Given the description of an element on the screen output the (x, y) to click on. 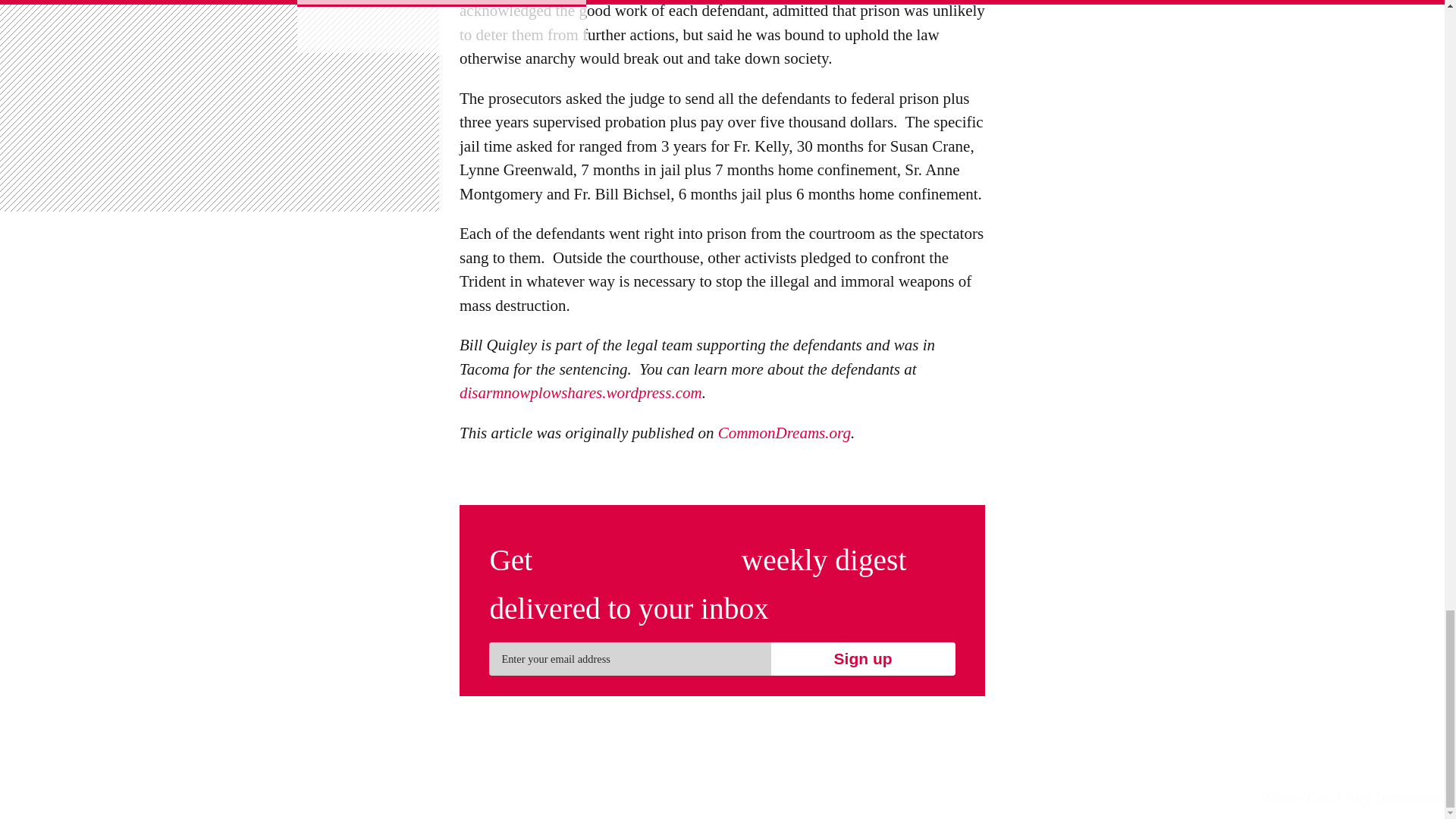
Sign up (862, 658)
disarmnowplowshares.wordpress. (567, 393)
com (688, 393)
CommonDreams.org (783, 433)
